Given the description of an element on the screen output the (x, y) to click on. 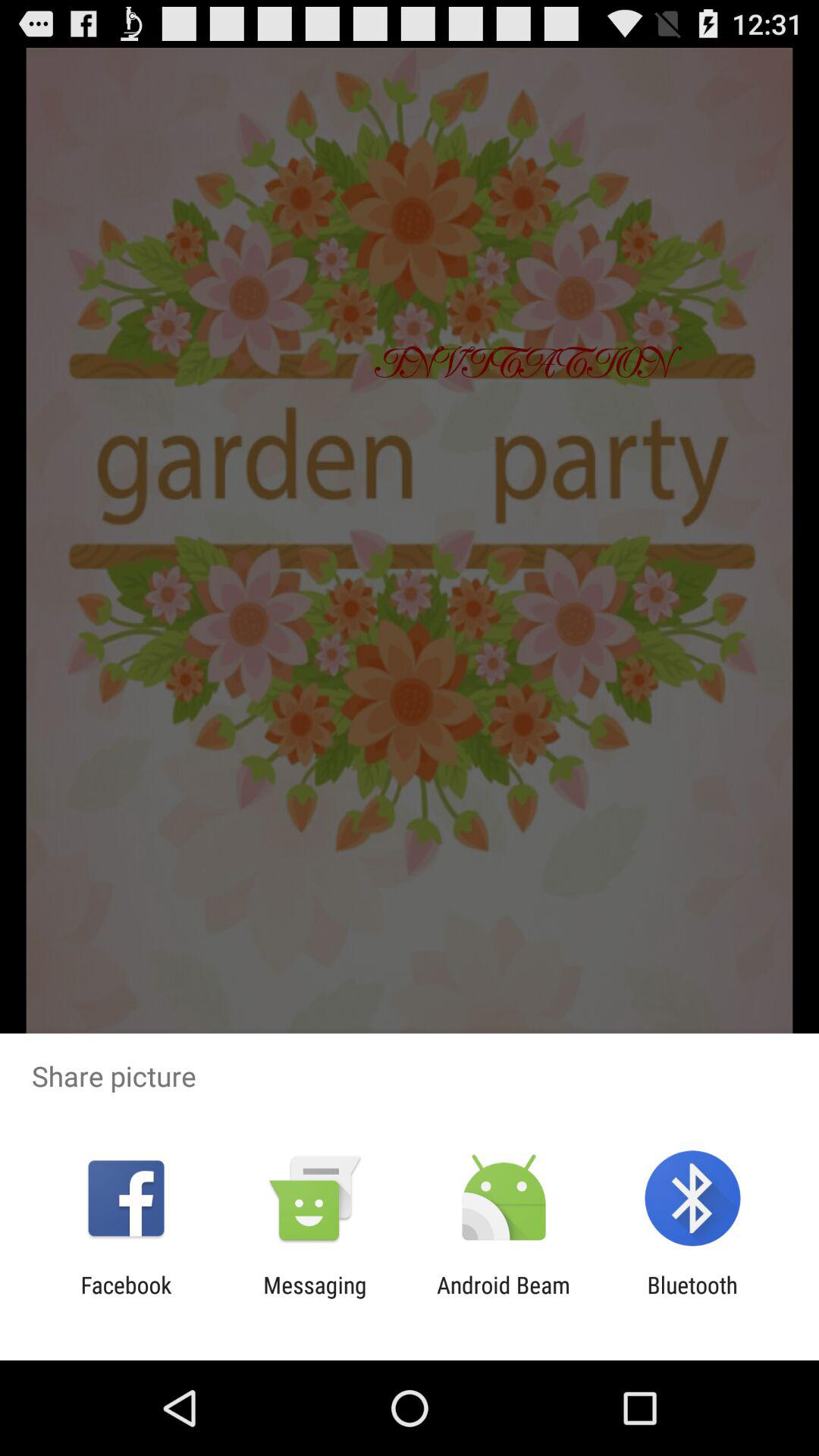
tap android beam item (503, 1298)
